Given the description of an element on the screen output the (x, y) to click on. 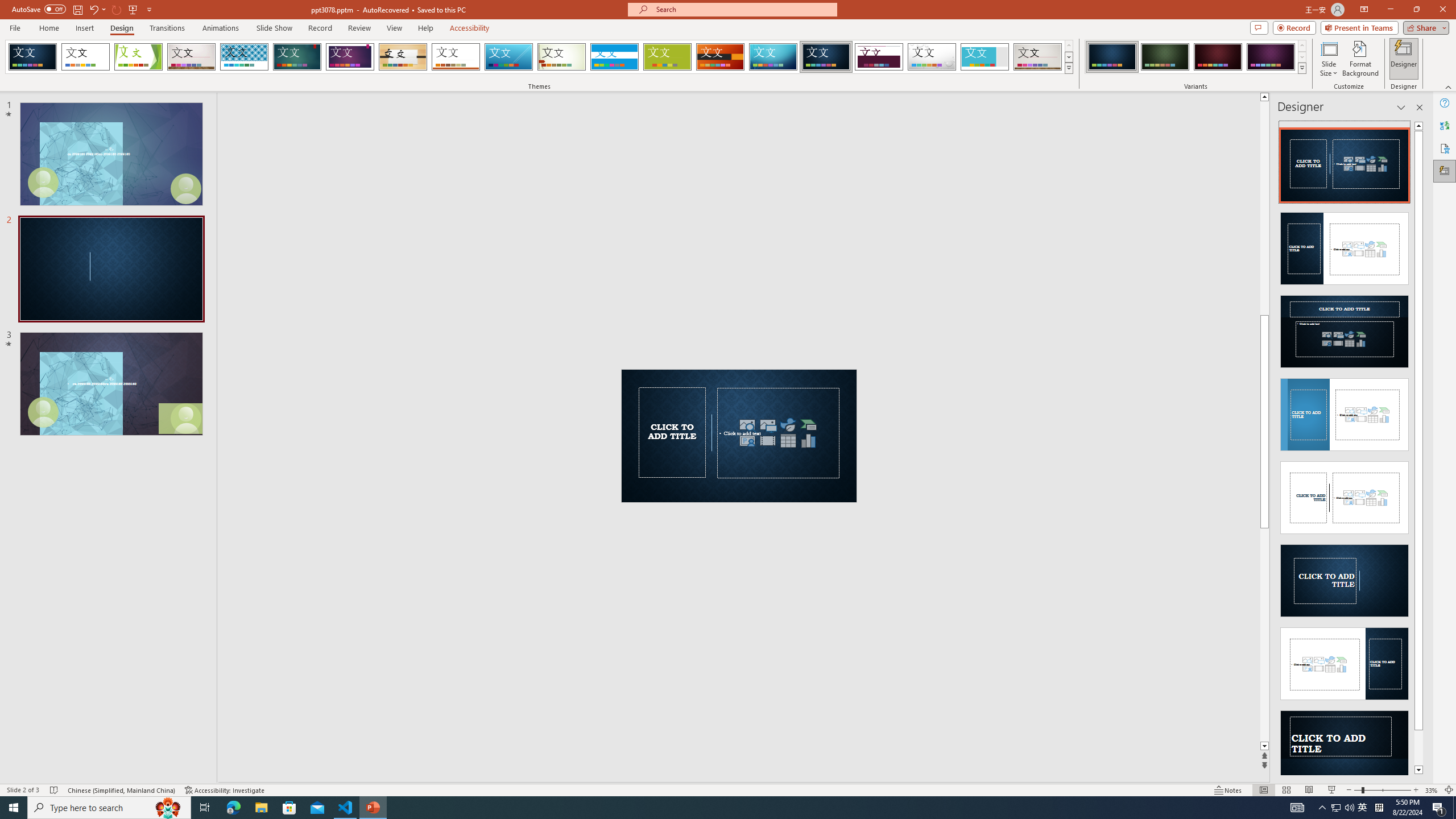
Basis (667, 56)
Ion Boardroom (350, 56)
Damask Variant 4 (1270, 56)
Berlin (720, 56)
Content Placeholder (778, 433)
Insert an Icon (787, 424)
